Given the description of an element on the screen output the (x, y) to click on. 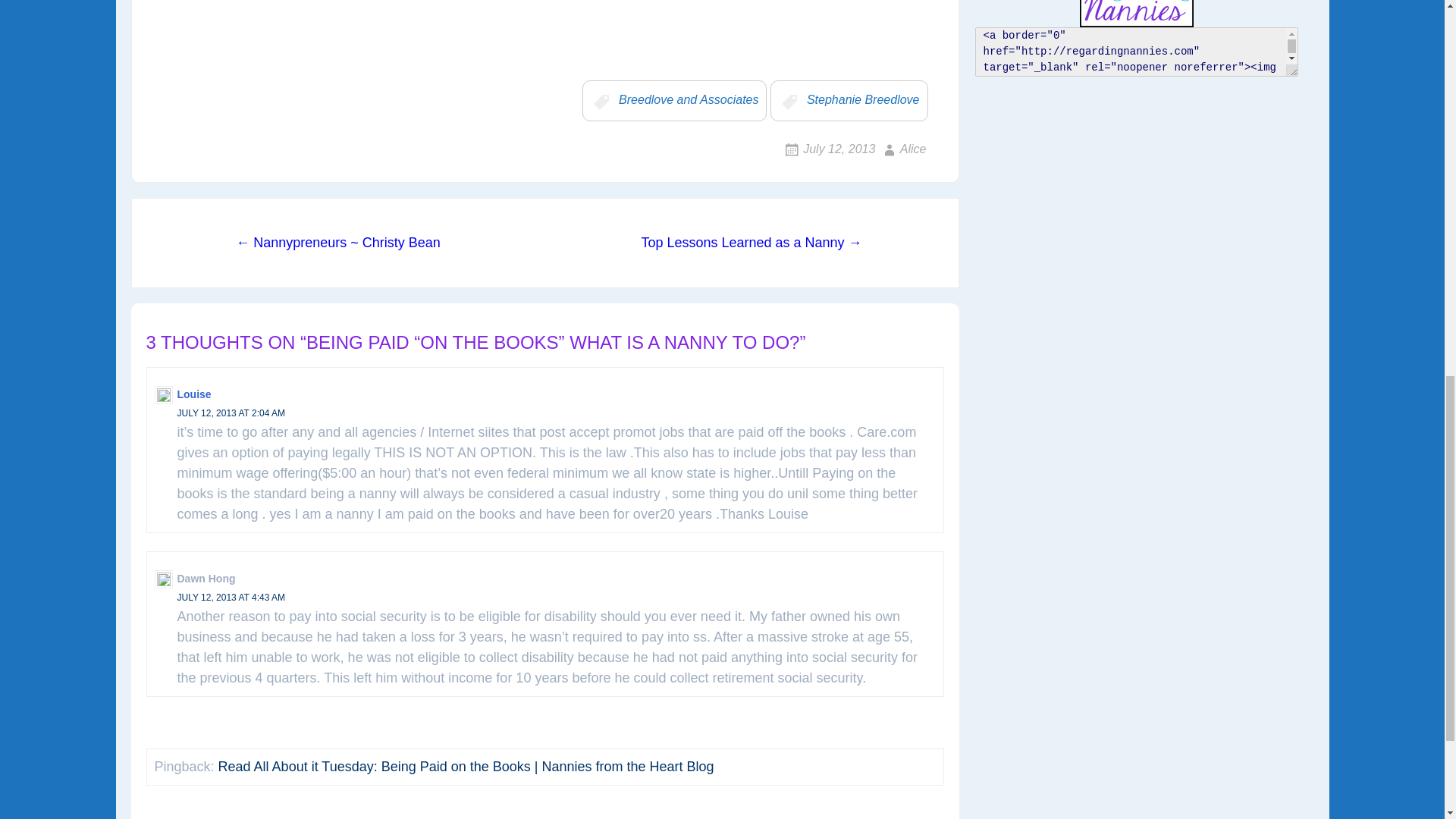
Alice (902, 148)
July 12, 2013 (828, 148)
